Given the description of an element on the screen output the (x, y) to click on. 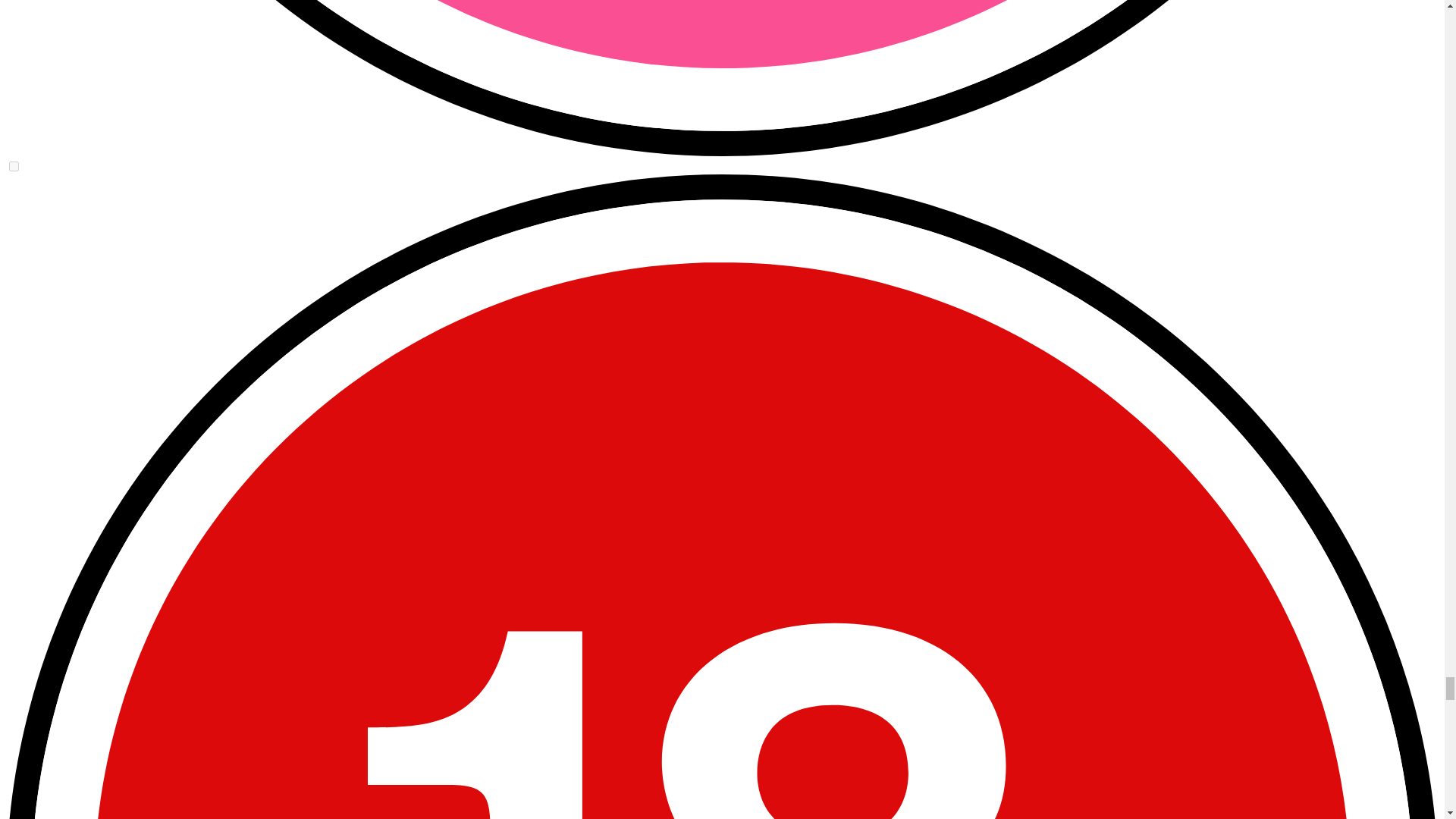
15 (13, 166)
